Given the description of an element on the screen output the (x, y) to click on. 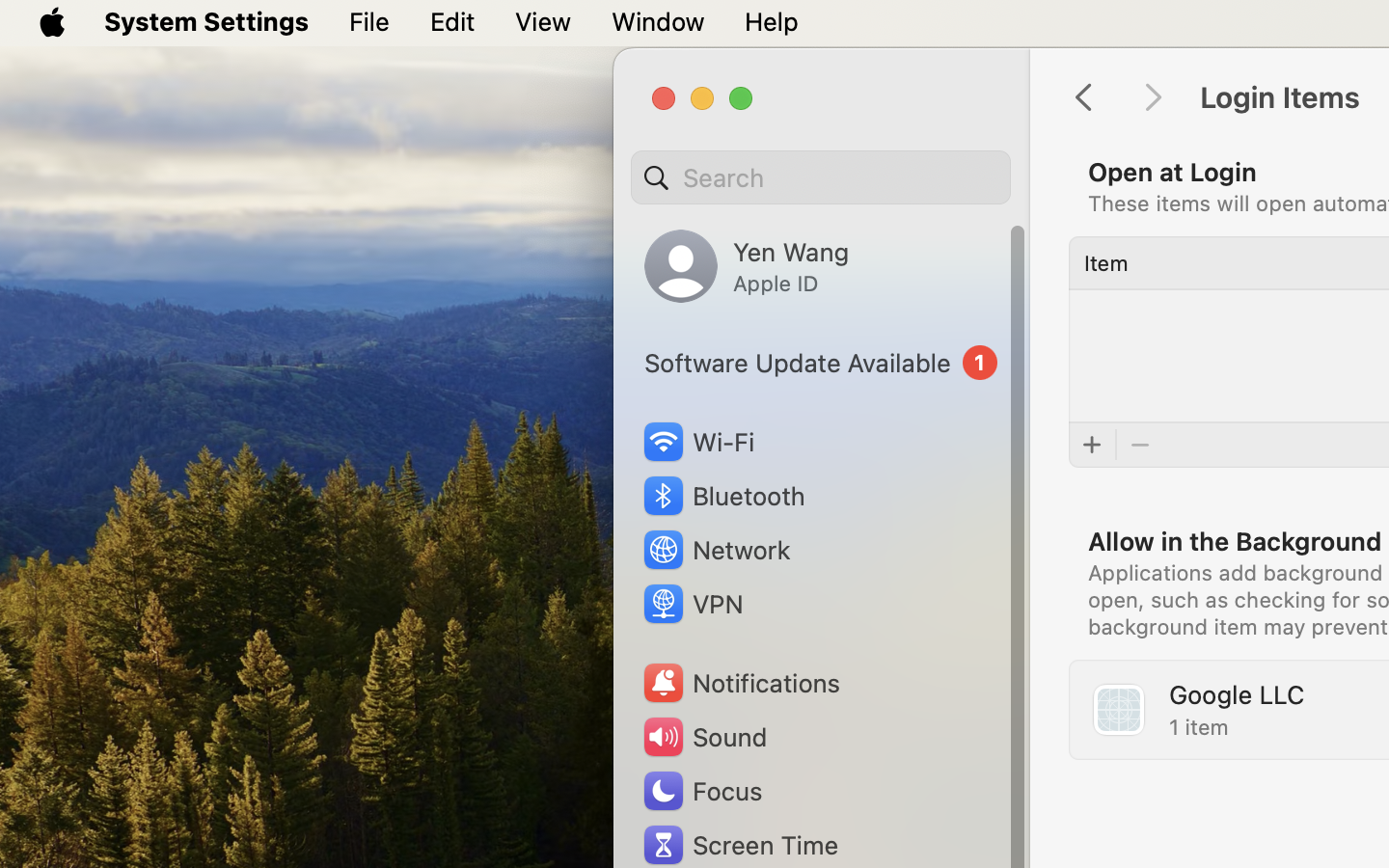
VPN Element type: AXStaticText (691, 603)
Wi‑Fi Element type: AXStaticText (697, 441)
Sound Element type: AXStaticText (703, 736)
Network Element type: AXStaticText (715, 549)
Notifications Element type: AXStaticText (740, 682)
